Given the description of an element on the screen output the (x, y) to click on. 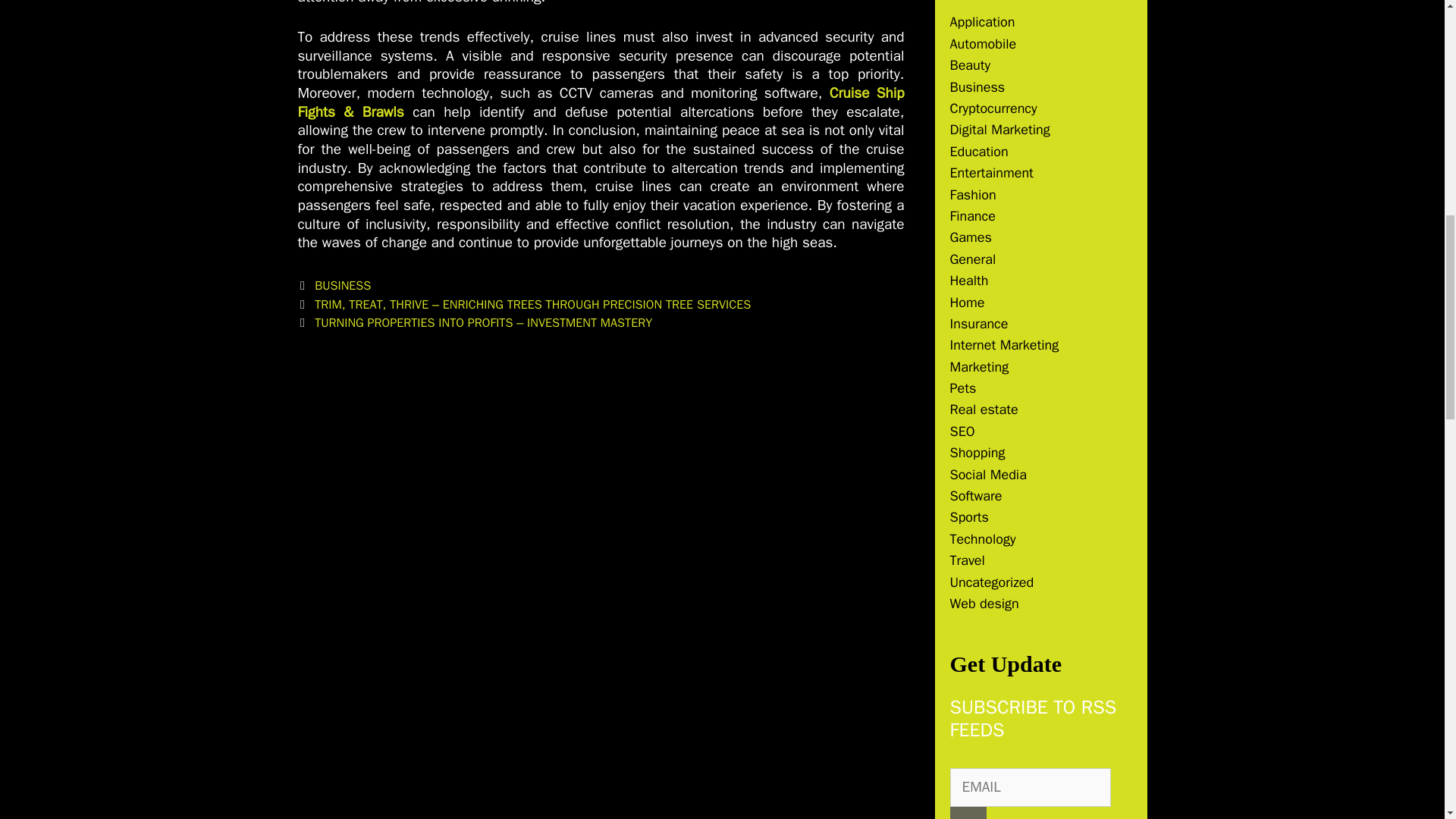
Insurance (978, 323)
Application (981, 21)
Fashion (972, 194)
General (972, 258)
Health (968, 280)
Automobile (982, 44)
Cryptocurrency (992, 108)
Games (970, 237)
Previous (524, 304)
BUSINESS (342, 285)
Education (978, 151)
Next (474, 322)
Digital Marketing (999, 129)
Entertainment (990, 172)
Internet Marketing (1003, 344)
